Given the description of an element on the screen output the (x, y) to click on. 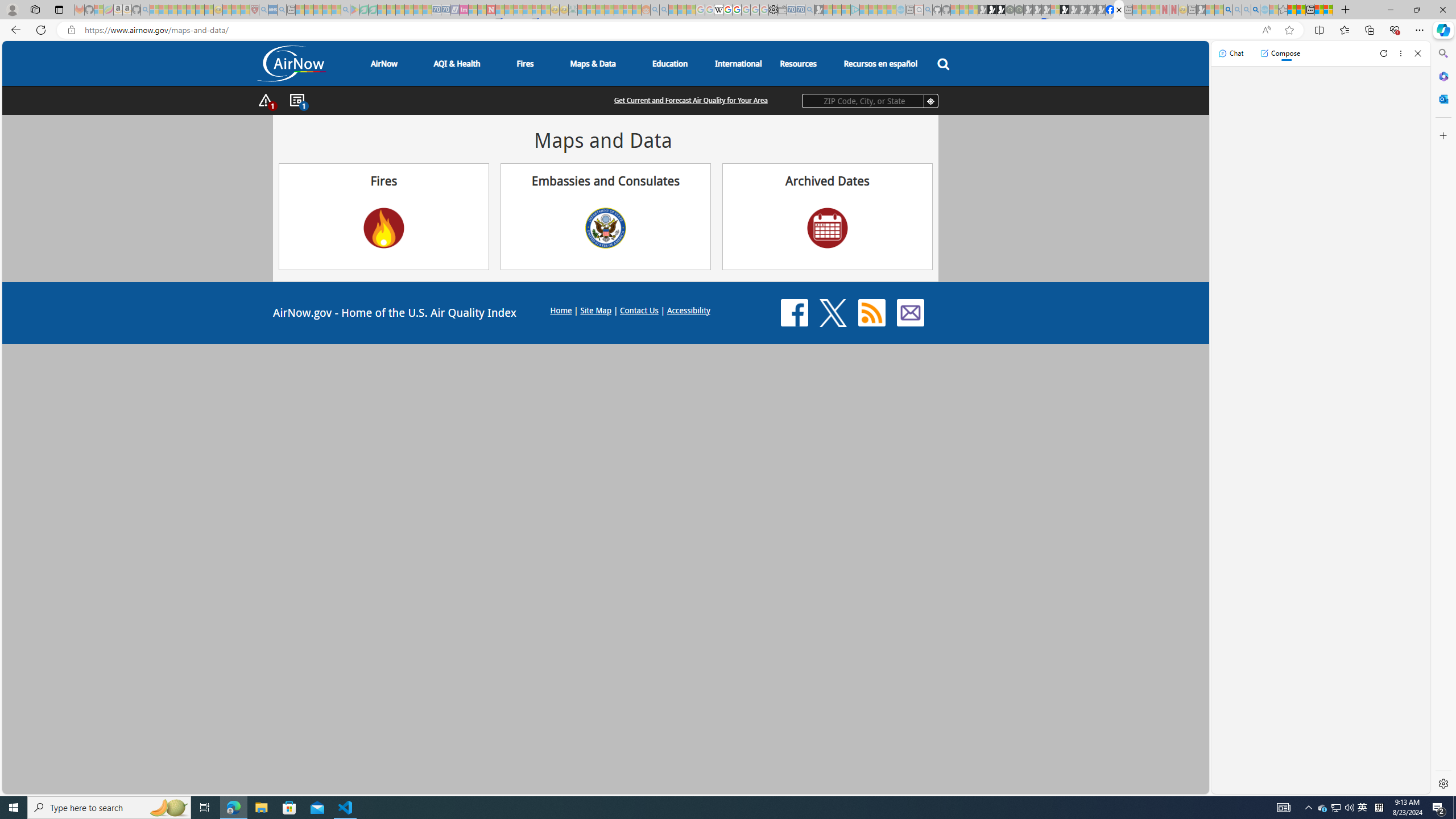
RSS (871, 312)
Accessibility (688, 309)
Compose (1279, 52)
